Given the description of an element on the screen output the (x, y) to click on. 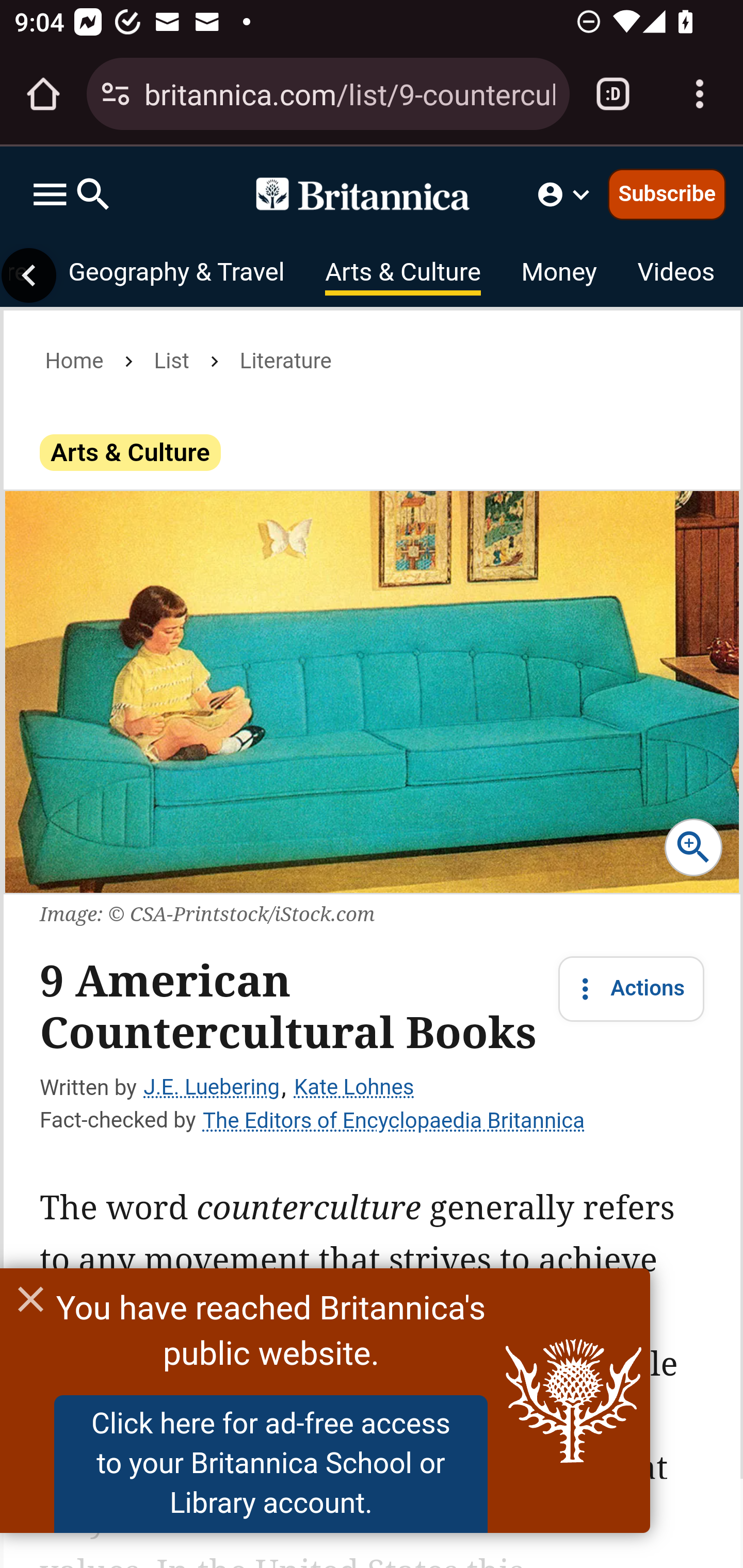
Open the home page (43, 93)
Connection is secure (115, 93)
Switch or close tabs (612, 93)
Customize and control Google Chrome (699, 93)
britannica.com/list/9-countercultural-books (349, 92)
menu search (71, 194)
account_circle keyboard_arrow_down (565, 194)
Subscribe (667, 193)
Encyclopedia Britannica (371, 194)
Previous (28, 275)
Geography & Travel (175, 275)
Arts & Culture (403, 275)
Money (558, 275)
Videos (676, 275)
Home (73, 361)
List (171, 361)
Literature (285, 361)
Arts & Culture (130, 451)
Zoom in (693, 847)
more_vert Actions (631, 988)
